Given the description of an element on the screen output the (x, y) to click on. 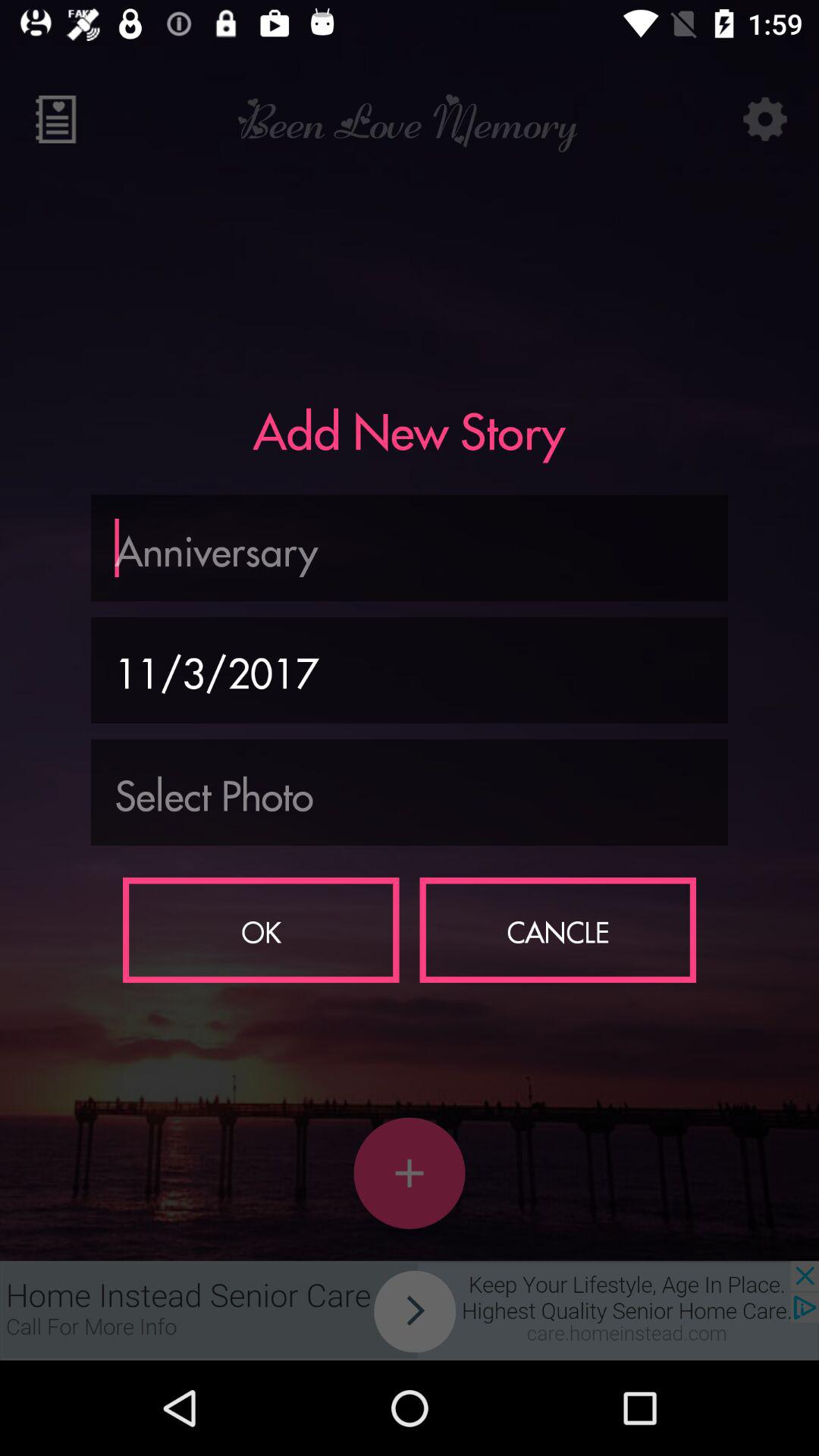
jump until the cancle icon (557, 929)
